Given the description of an element on the screen output the (x, y) to click on. 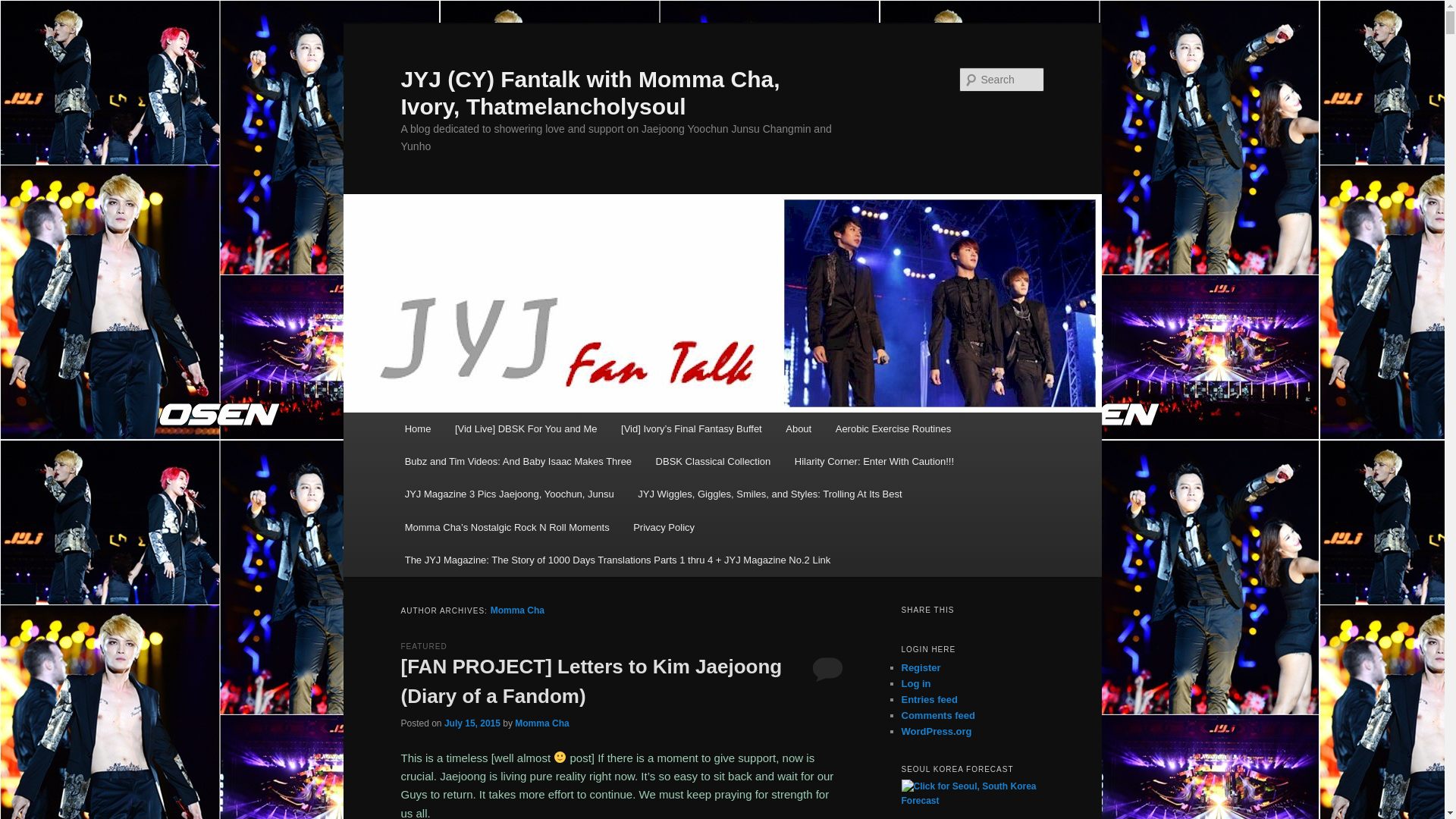
10:47 am (472, 723)
About (797, 428)
Momma Cha (542, 723)
JYJ Magazine 3 Pics Jaejoong, Yoochun, Junsu (509, 493)
Aerobic Exercise Routines (893, 428)
July 15, 2015 (472, 723)
Privacy Policy (663, 527)
Home (417, 428)
